Given the description of an element on the screen output the (x, y) to click on. 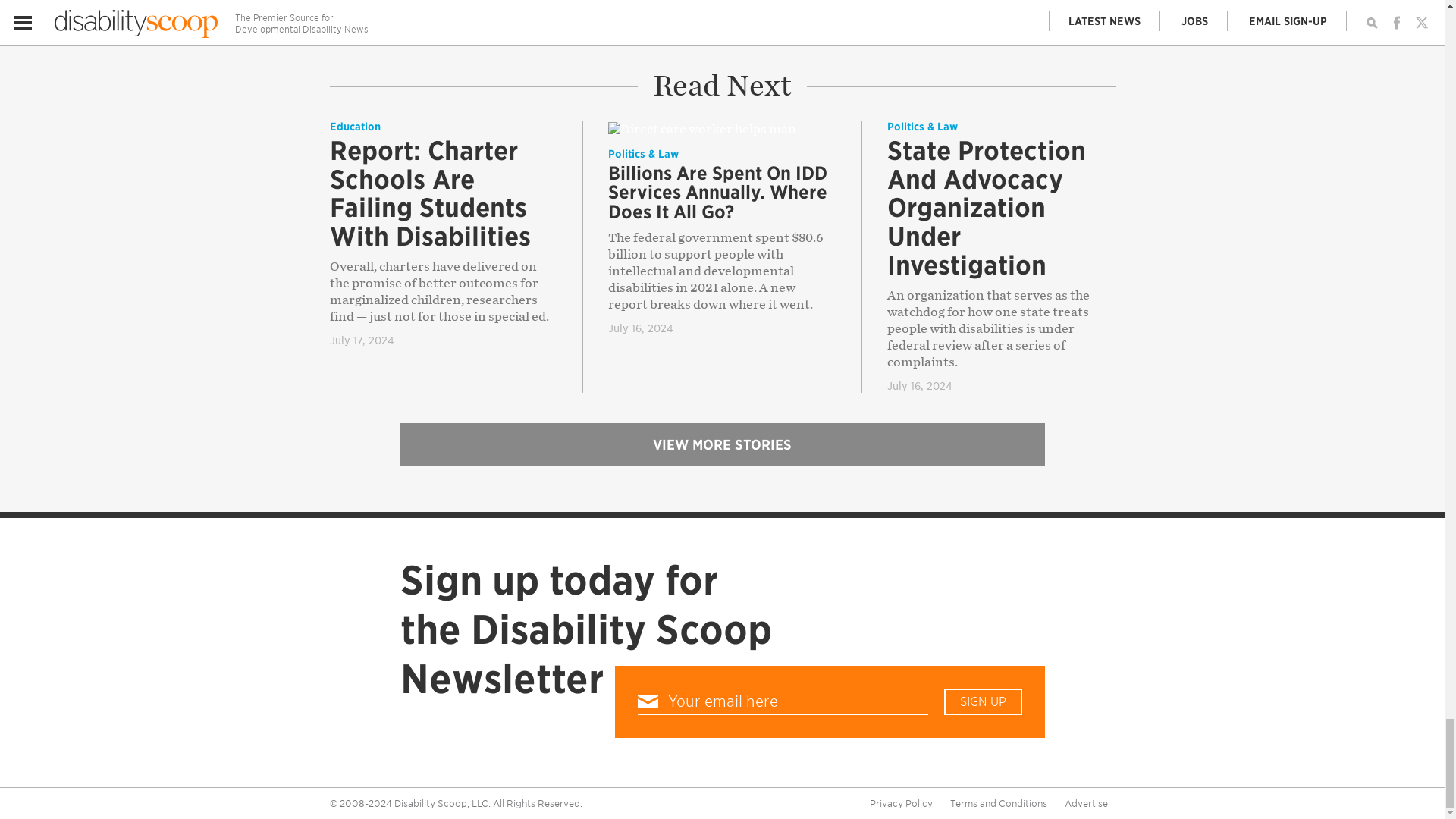
Sign Up (982, 701)
